Given the description of an element on the screen output the (x, y) to click on. 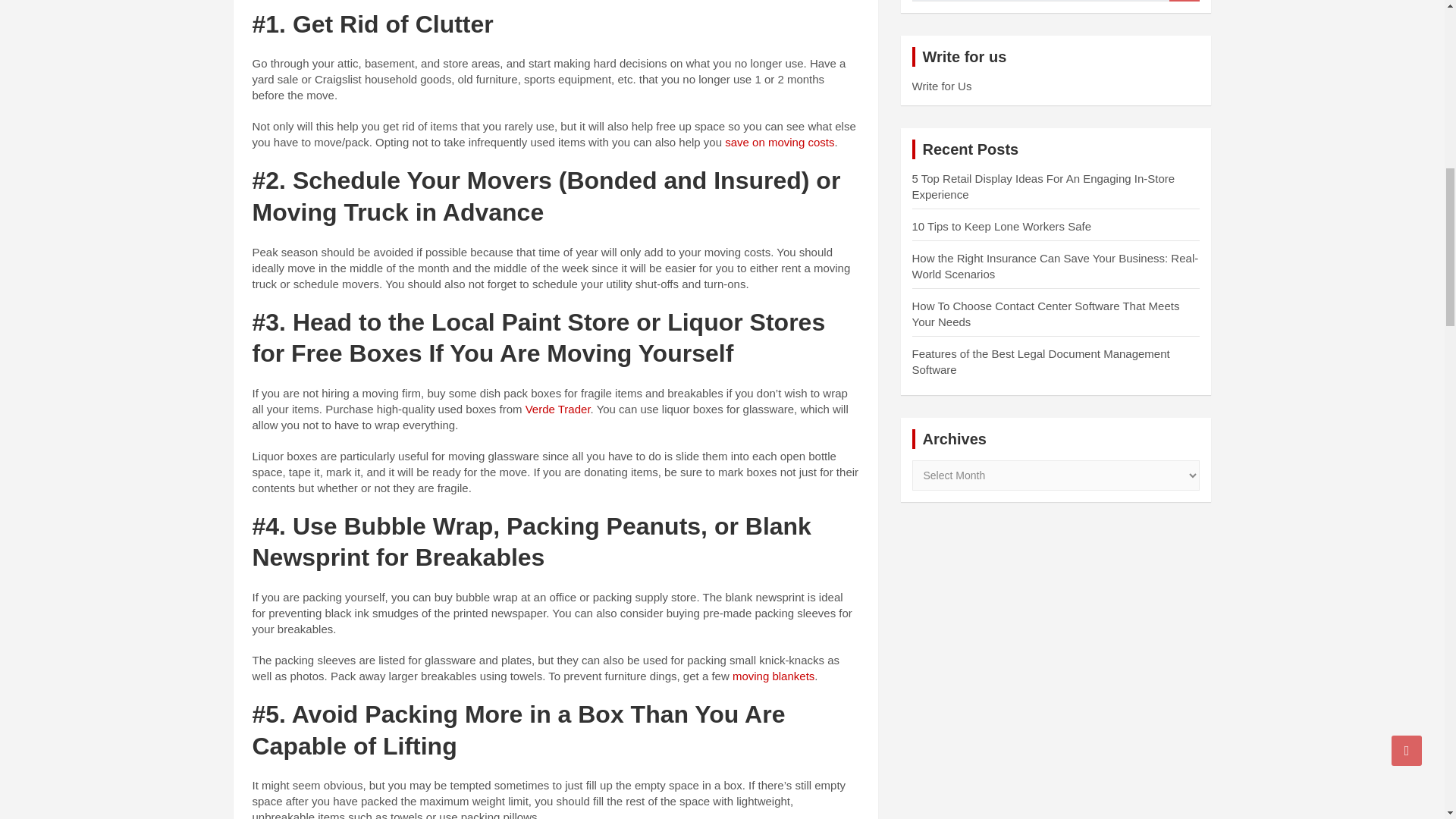
moving blankets (772, 675)
save on moving costs (779, 141)
Verde Trader (558, 408)
